Given the description of an element on the screen output the (x, y) to click on. 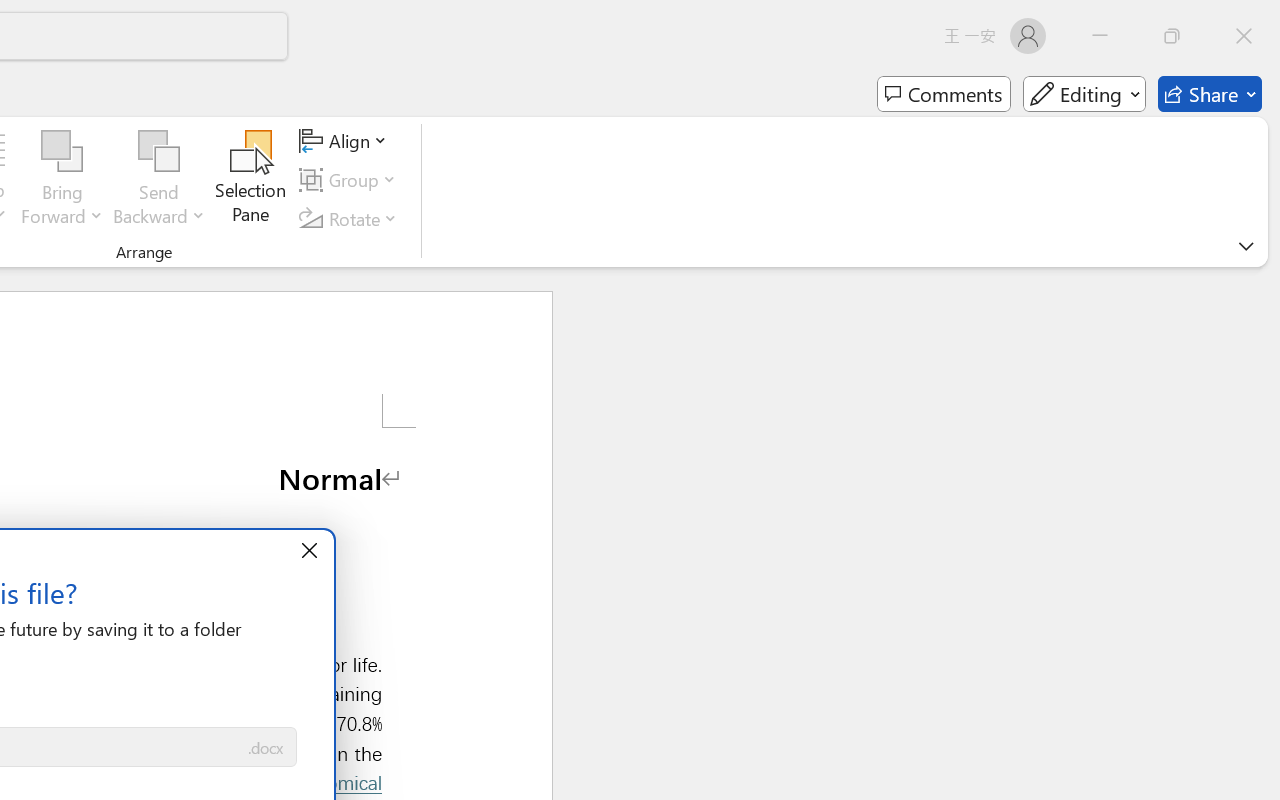
Selection Pane... (251, 179)
Rotate (351, 218)
Bring Forward (62, 179)
Group (351, 179)
Save as type (265, 747)
Send Backward (159, 179)
